Given the description of an element on the screen output the (x, y) to click on. 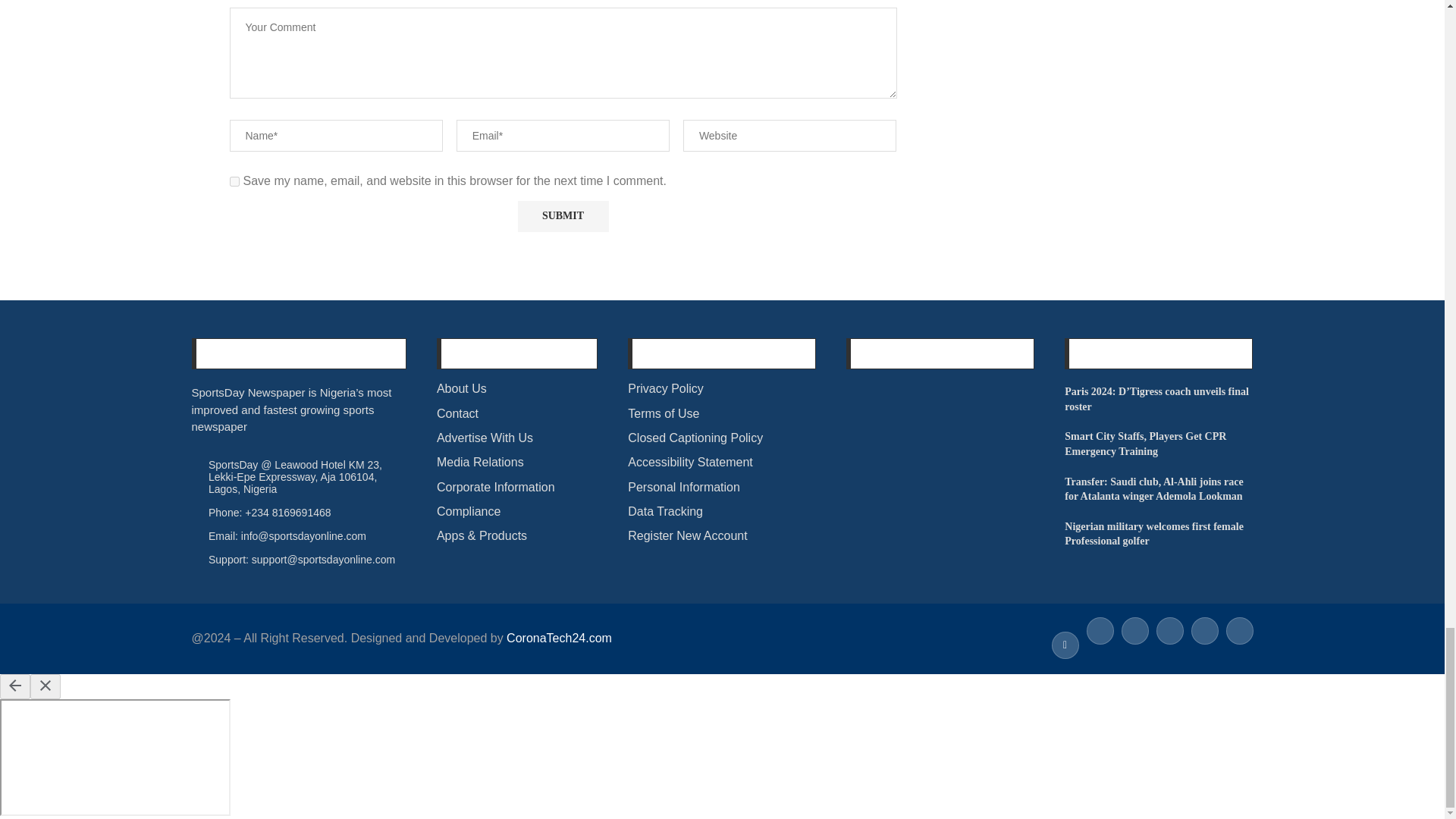
Submit (562, 215)
yes (233, 181)
